Given the description of an element on the screen output the (x, y) to click on. 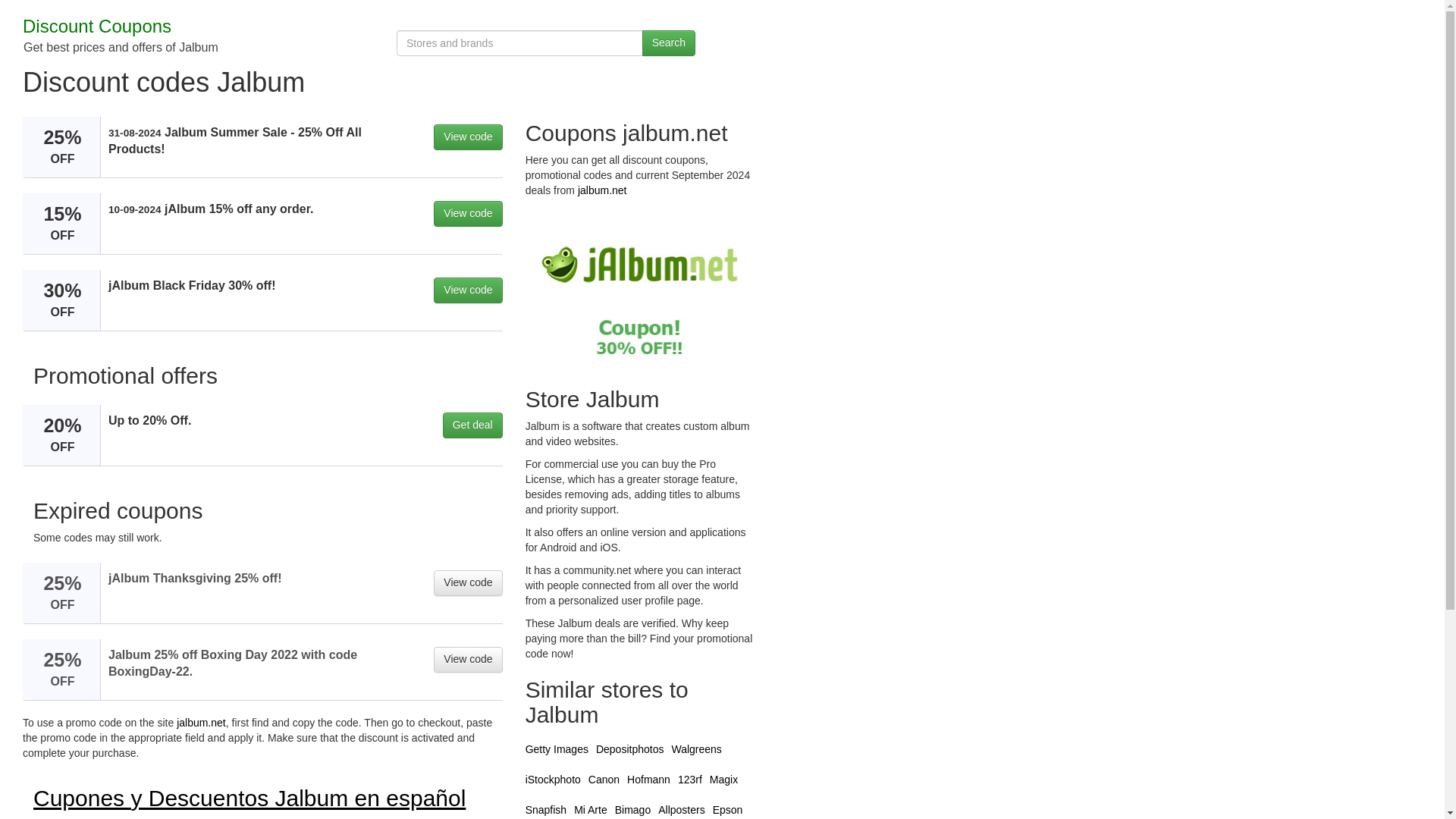
Allposters (681, 809)
View code (467, 213)
View code (467, 659)
Canon (604, 779)
Walgreens (695, 748)
View code (467, 136)
Epson (727, 809)
View code (467, 583)
Search (668, 43)
123rf (689, 779)
